Given the description of an element on the screen output the (x, y) to click on. 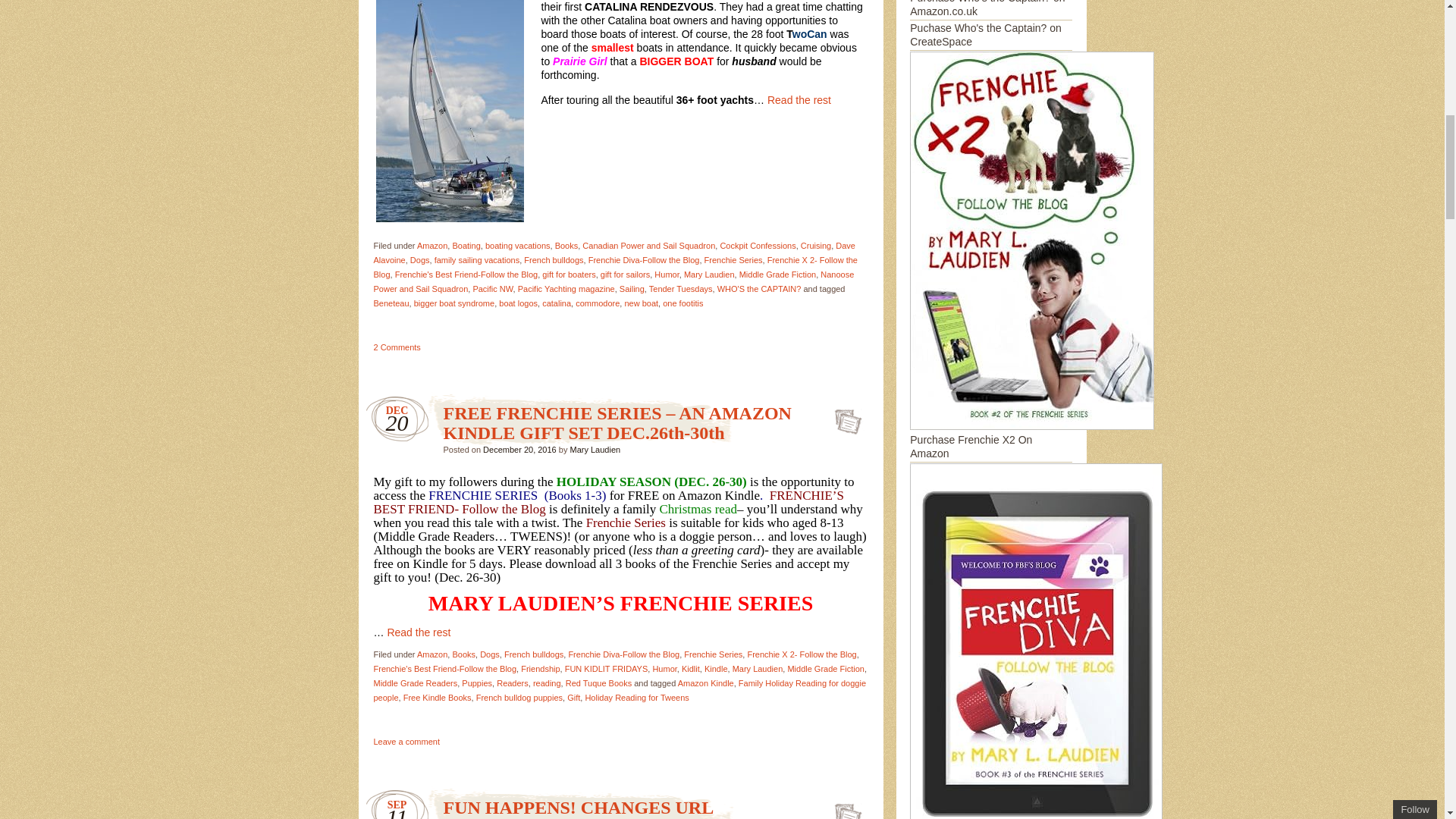
4:28 pm (519, 449)
Permalink to FUN HAPPENS! CHANGES URL (577, 807)
Sign up! (1350, 102)
View all posts by Mary Laudien (594, 449)
